Given the description of an element on the screen output the (x, y) to click on. 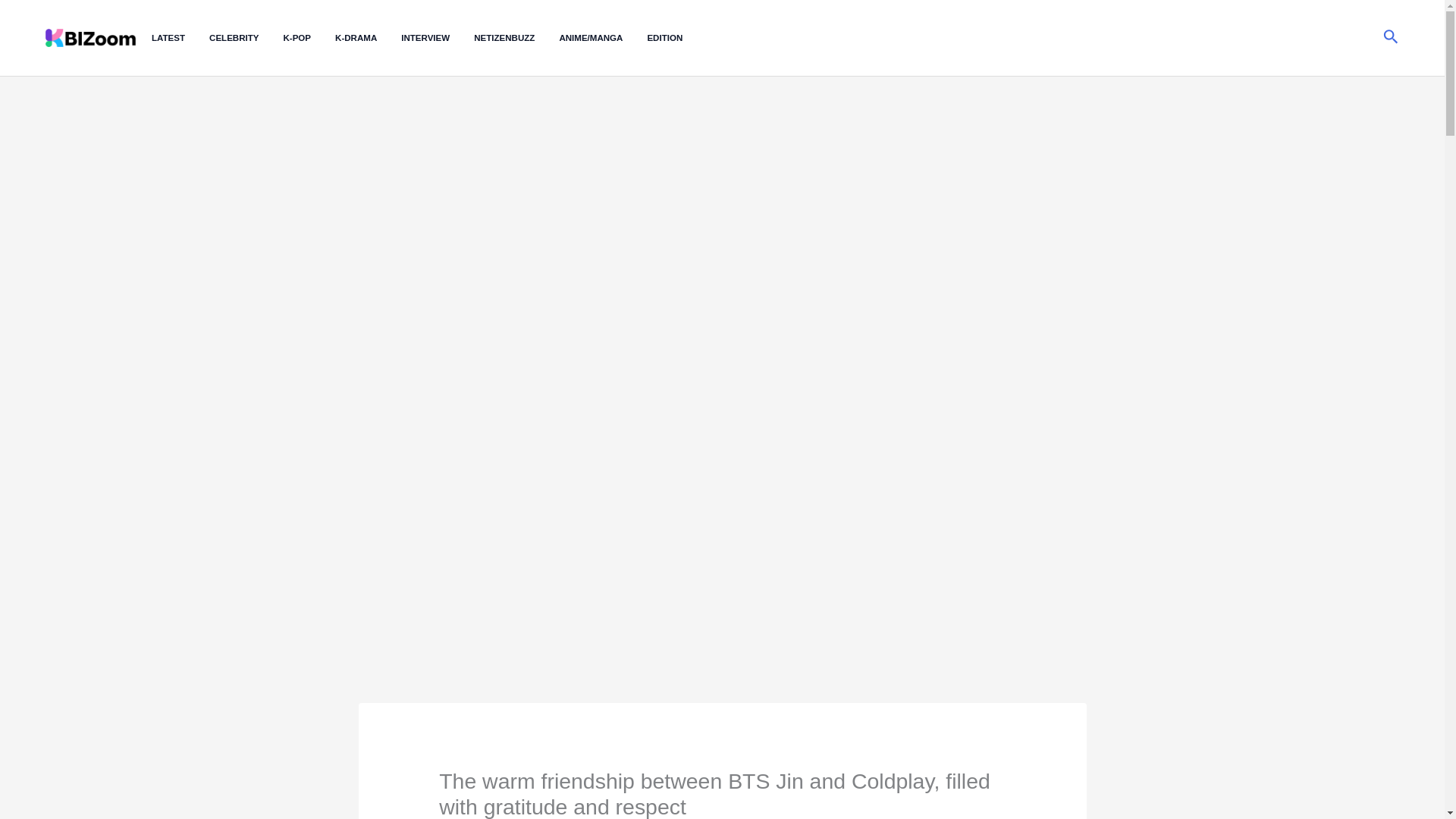
INTERVIEW (437, 38)
NETIZENBUZZ (516, 38)
CELEBRITY (245, 38)
